Given the description of an element on the screen output the (x, y) to click on. 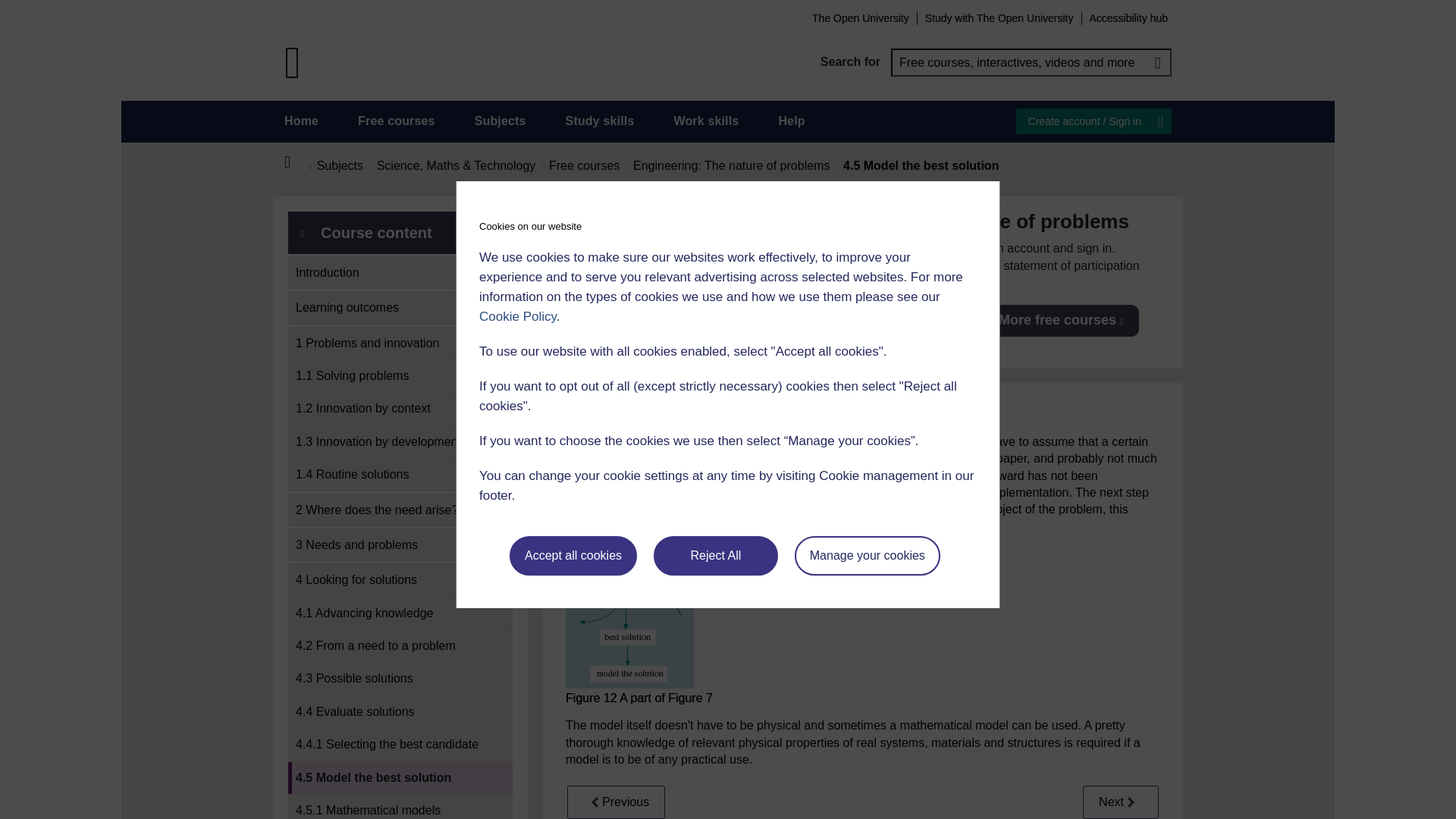
The Open University (860, 17)
Home (295, 162)
Accessibility hub (1129, 17)
Manage your cookies (867, 555)
Study with The Open University (999, 17)
Subjects (499, 120)
Study skills (600, 120)
Accept all cookies (573, 555)
Search (1157, 62)
Help (791, 120)
